Given the description of an element on the screen output the (x, y) to click on. 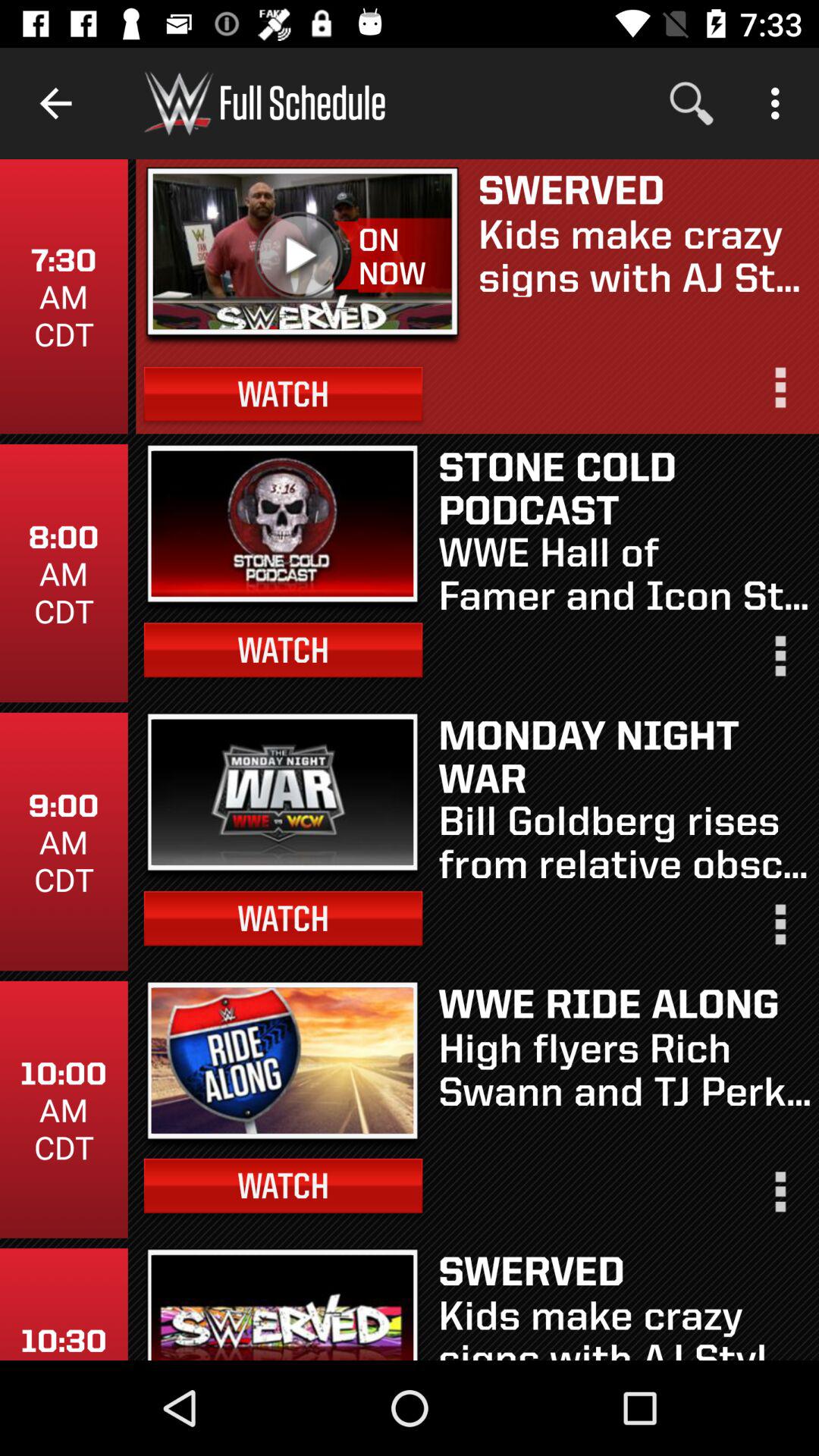
choose the item to the right of the full schedule item (691, 103)
